Given the description of an element on the screen output the (x, y) to click on. 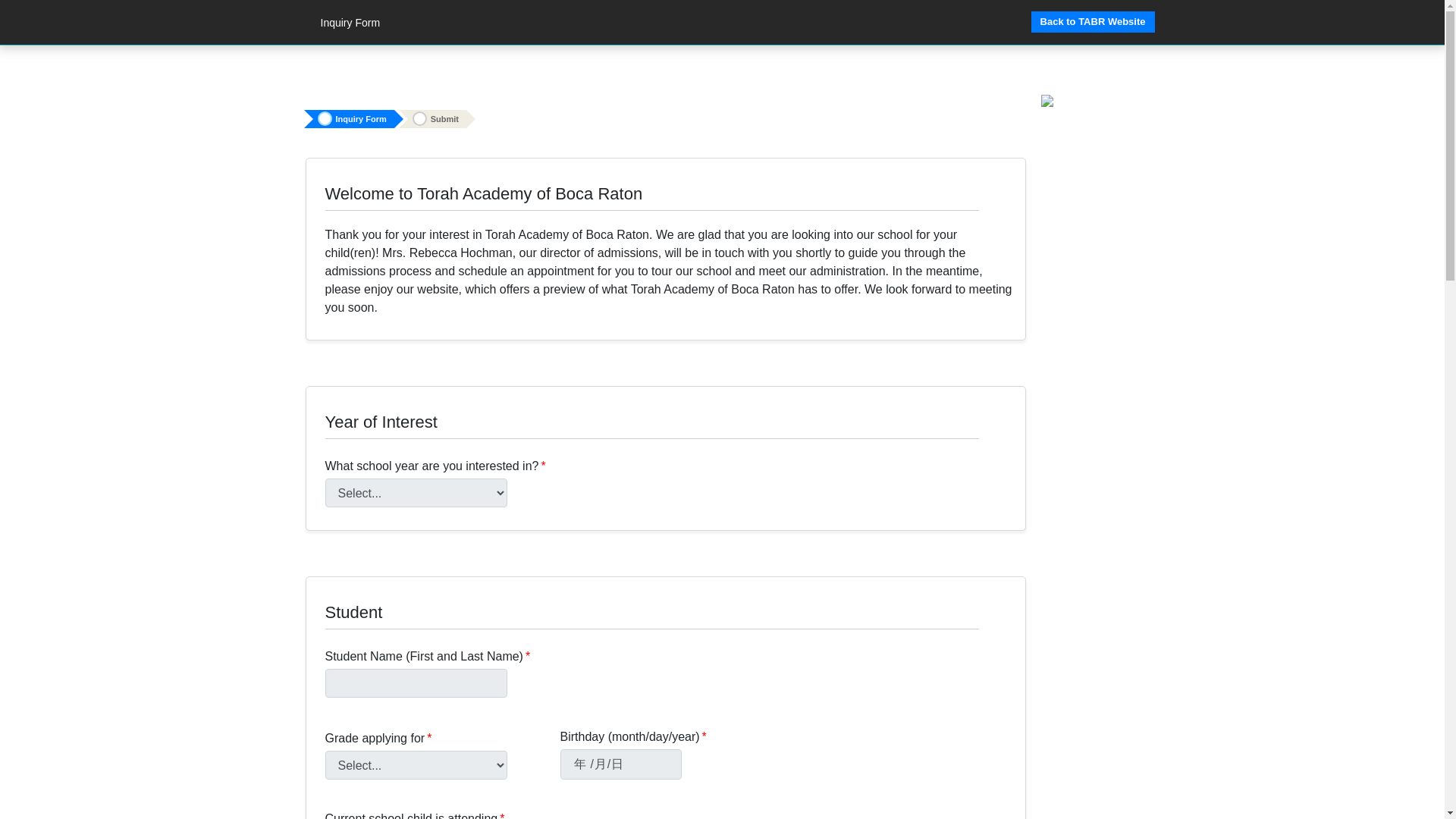
Inquiry Form (345, 27)
 Submit (436, 118)
Back to TABR Website (1092, 21)
 Inquiry Form (353, 118)
